Given the description of an element on the screen output the (x, y) to click on. 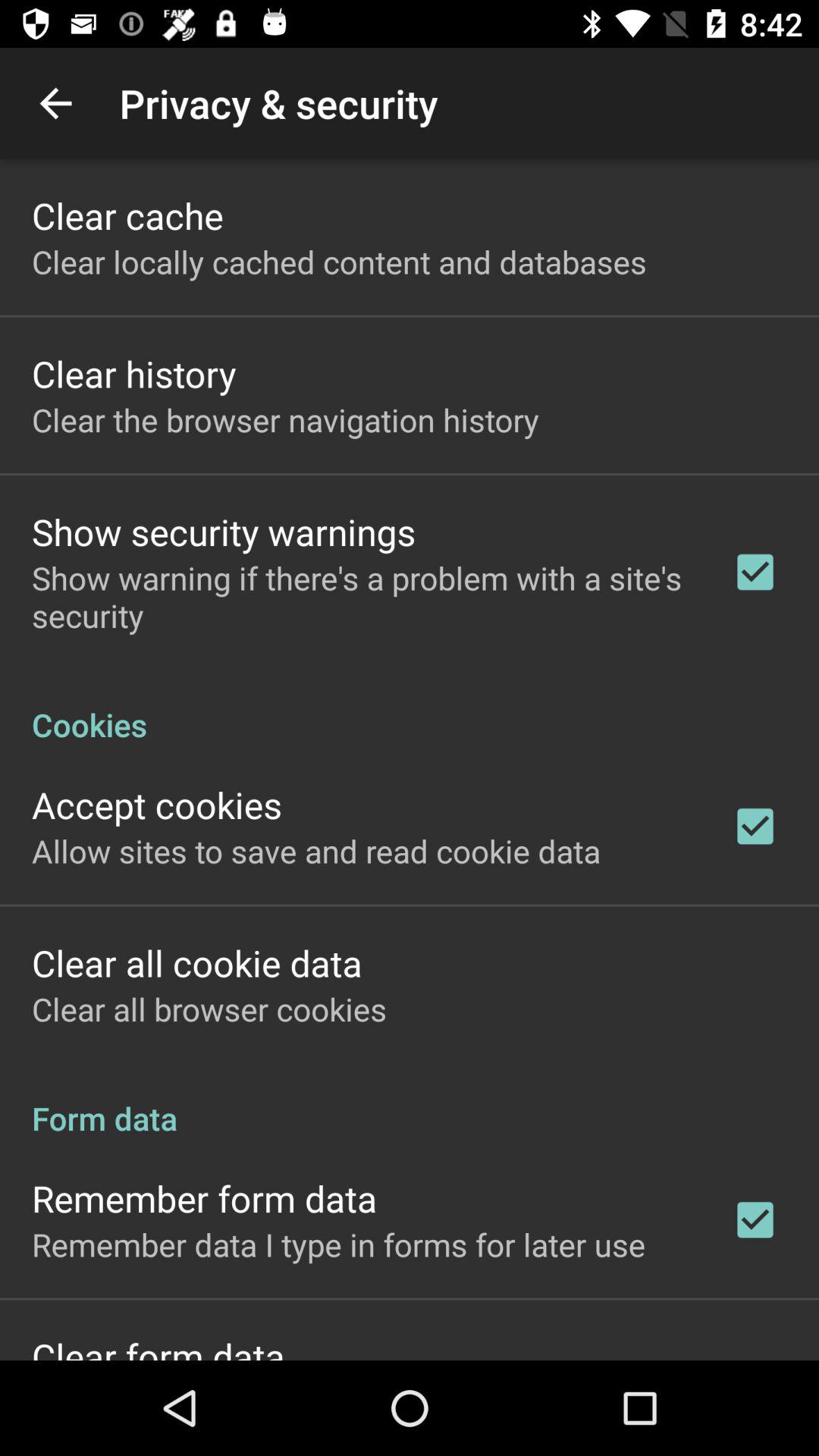
press the icon next to privacy & security icon (55, 103)
